Given the description of an element on the screen output the (x, y) to click on. 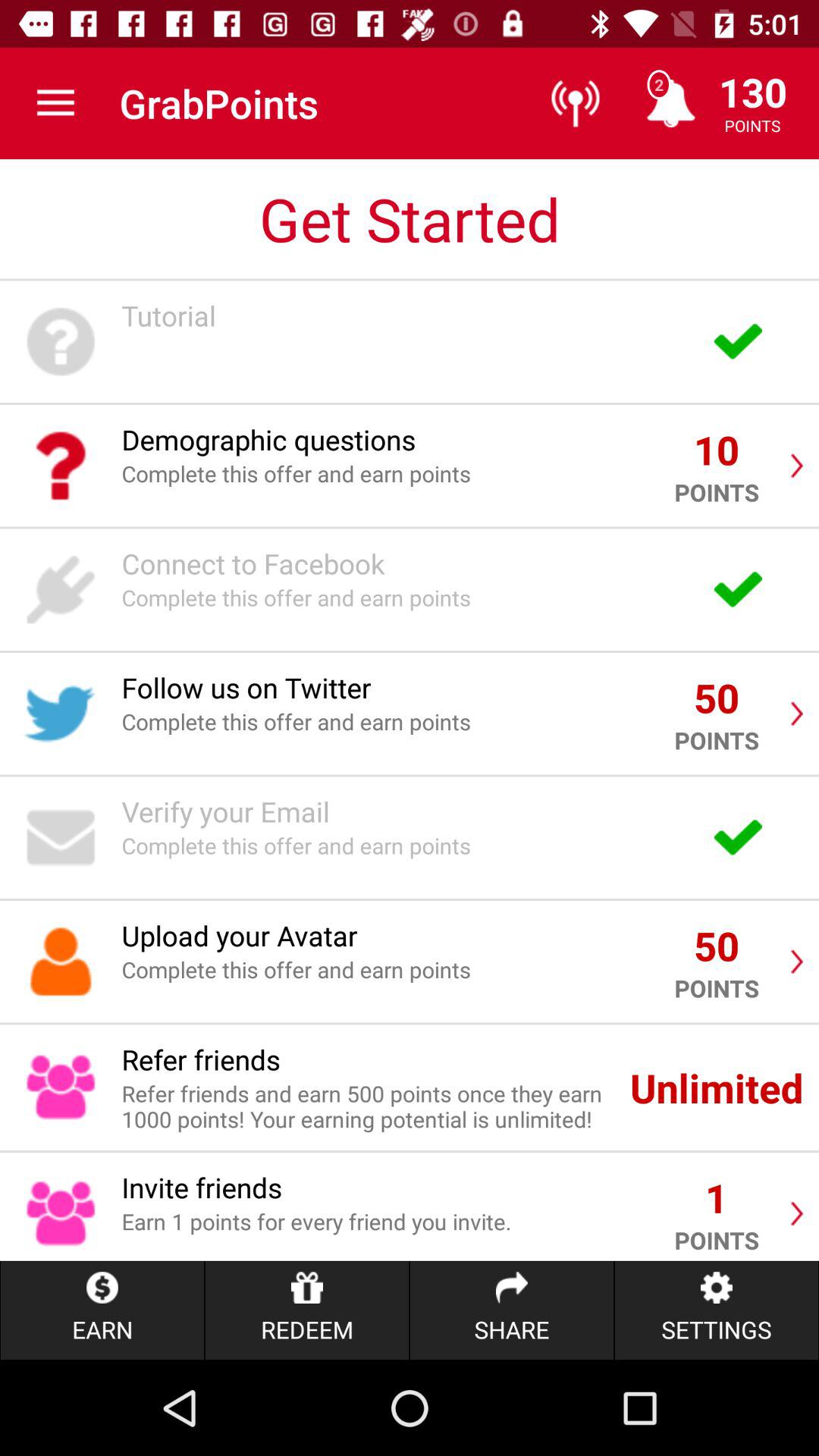
click the item below points icon (716, 1310)
